Given the description of an element on the screen output the (x, y) to click on. 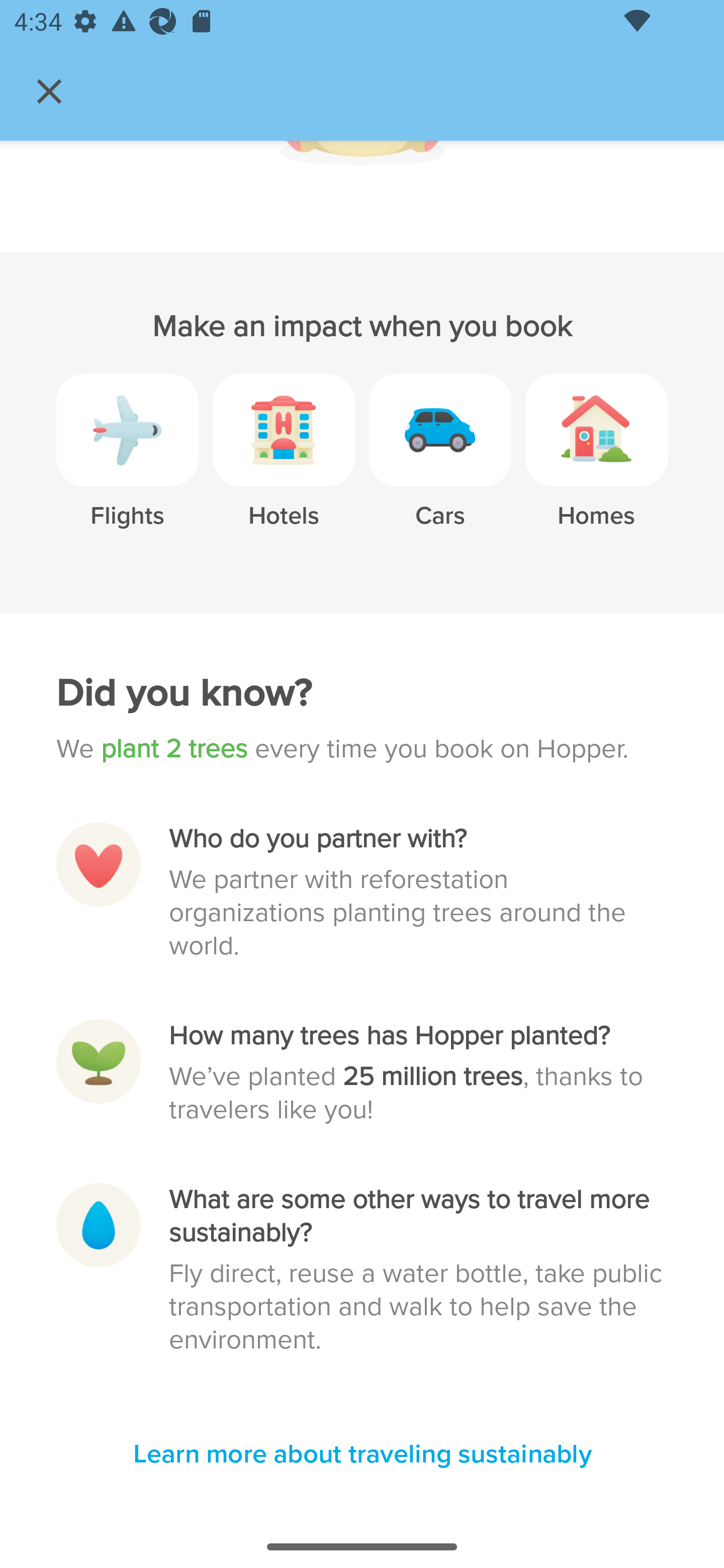
Navigate up (49, 91)
Flights (127, 464)
Hotels (283, 464)
Cars (440, 464)
Homes (596, 464)
‍Learn more about traveling sustainably (361, 1454)
